Given the description of an element on the screen output the (x, y) to click on. 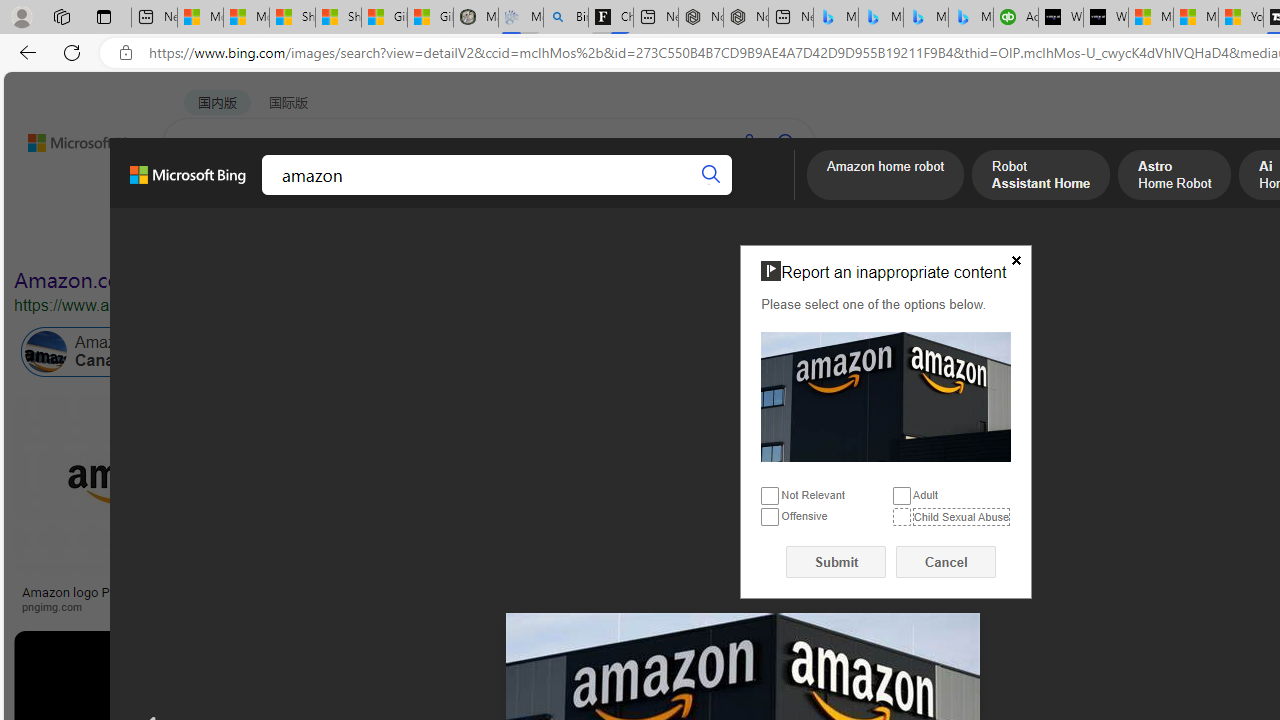
WEB (201, 195)
Class: item col (893, 351)
Cancel (946, 561)
Type (372, 237)
Microsoft Bing, Back to Bing search (188, 183)
Amazon Kids (422, 351)
Kindle Paperwhite Case (1183, 524)
Layout (443, 237)
Amazon Prime Online (241, 351)
Image result for amazon (982, 485)
